Given the description of an element on the screen output the (x, y) to click on. 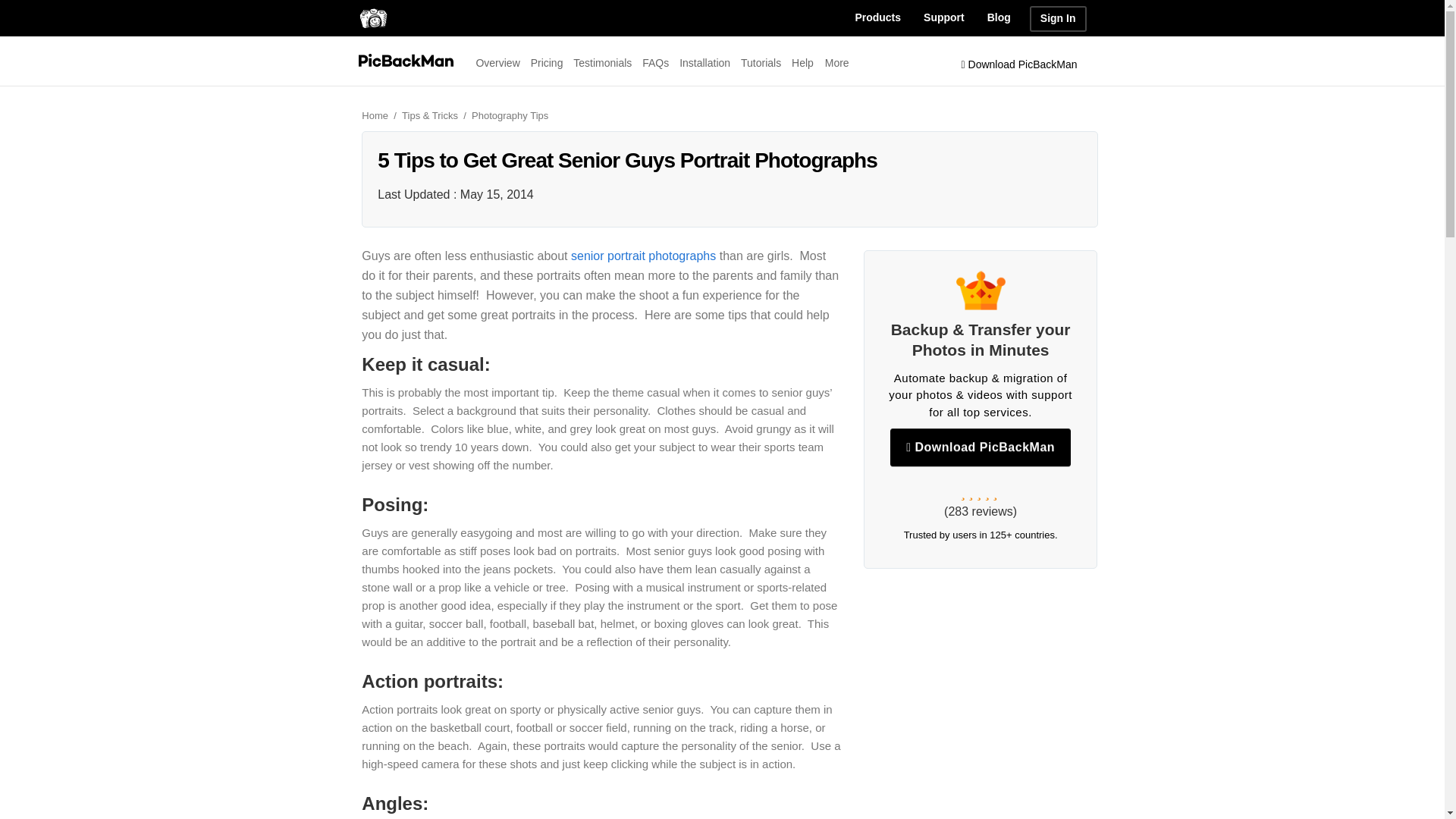
Support (943, 18)
Installation (704, 62)
Pricing (547, 62)
More (836, 62)
Products (877, 18)
Overview (497, 62)
PicBackMan (372, 17)
Tutorials (760, 62)
Home (379, 115)
Help (802, 62)
FAQs (655, 62)
Tutorials (760, 62)
Photography Tips (509, 115)
Sign In (1057, 18)
Testimonials (602, 62)
